Given the description of an element on the screen output the (x, y) to click on. 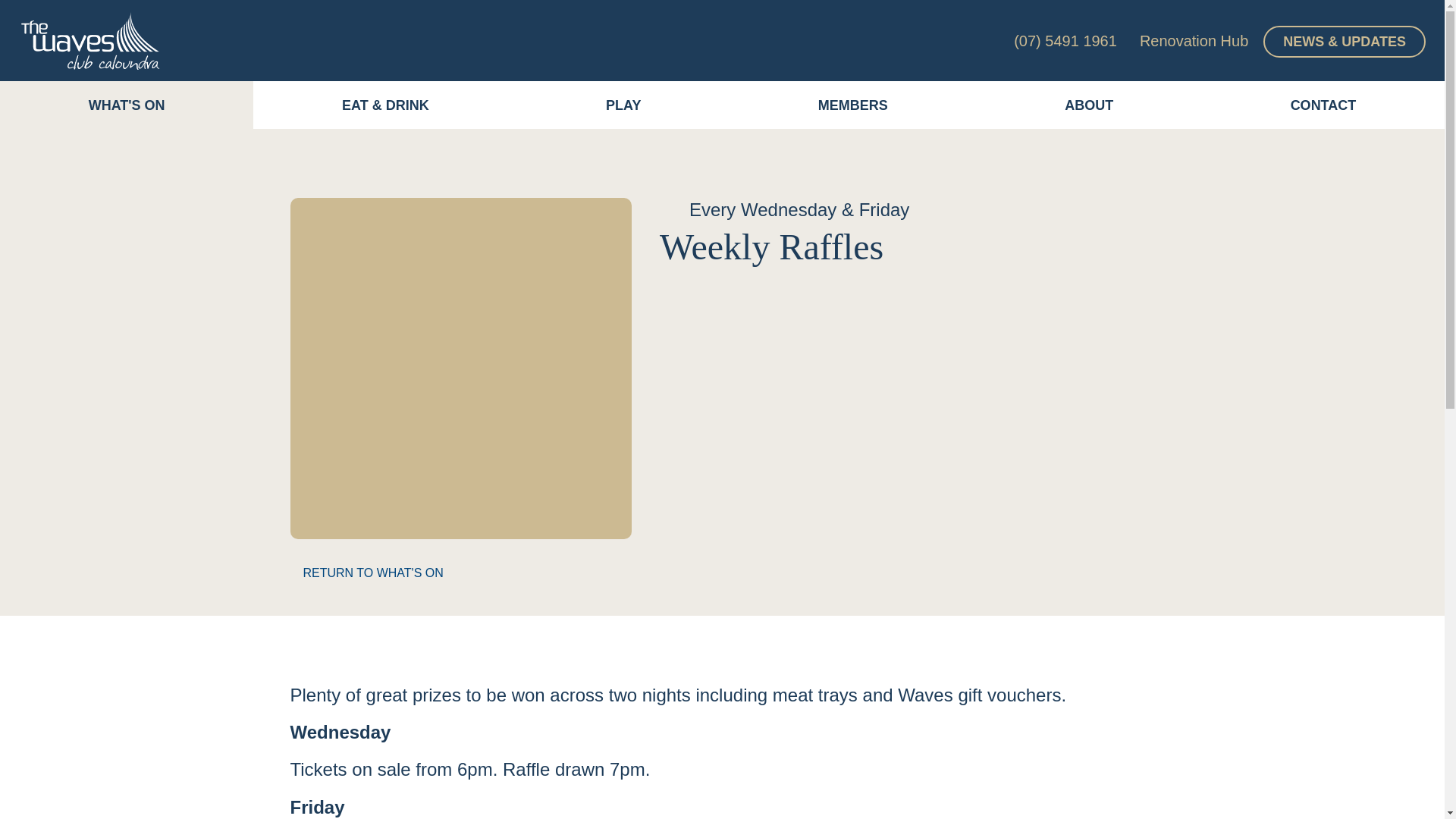
PLAY (622, 104)
The Waves Sports Club (90, 40)
ABOUT (1089, 104)
Renovation Hub (1193, 40)
MEMBERS (852, 104)
WHAT'S ON (126, 104)
RETURN TO WHAT'S ON (365, 573)
The Waves Club Caloundra (90, 40)
